Given the description of an element on the screen output the (x, y) to click on. 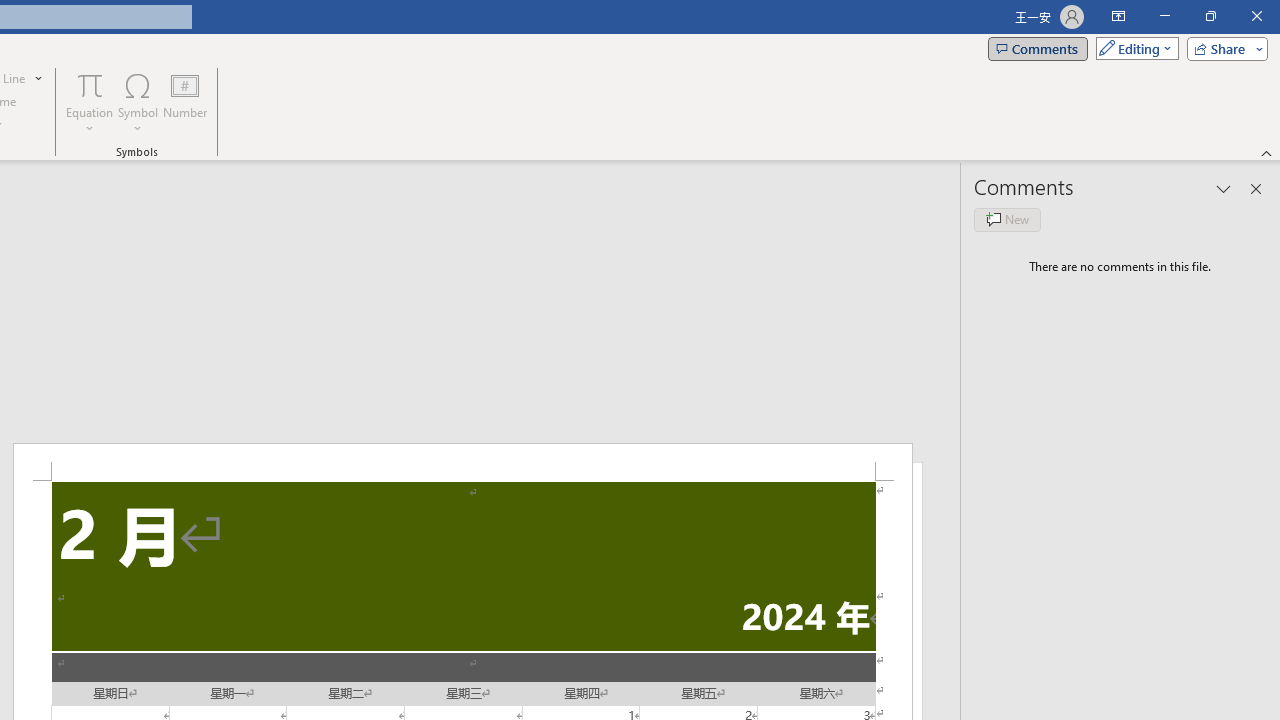
Symbol (138, 102)
Minimize (1164, 16)
Equation (90, 84)
Mode (1133, 47)
Share (1223, 48)
Header -Section 2- (462, 461)
Task Pane Options (1224, 188)
Comments (1038, 48)
Ribbon Display Options (1118, 16)
New comment (1007, 219)
More Options (90, 121)
Number... (185, 102)
Close (1256, 16)
